Given the description of an element on the screen output the (x, y) to click on. 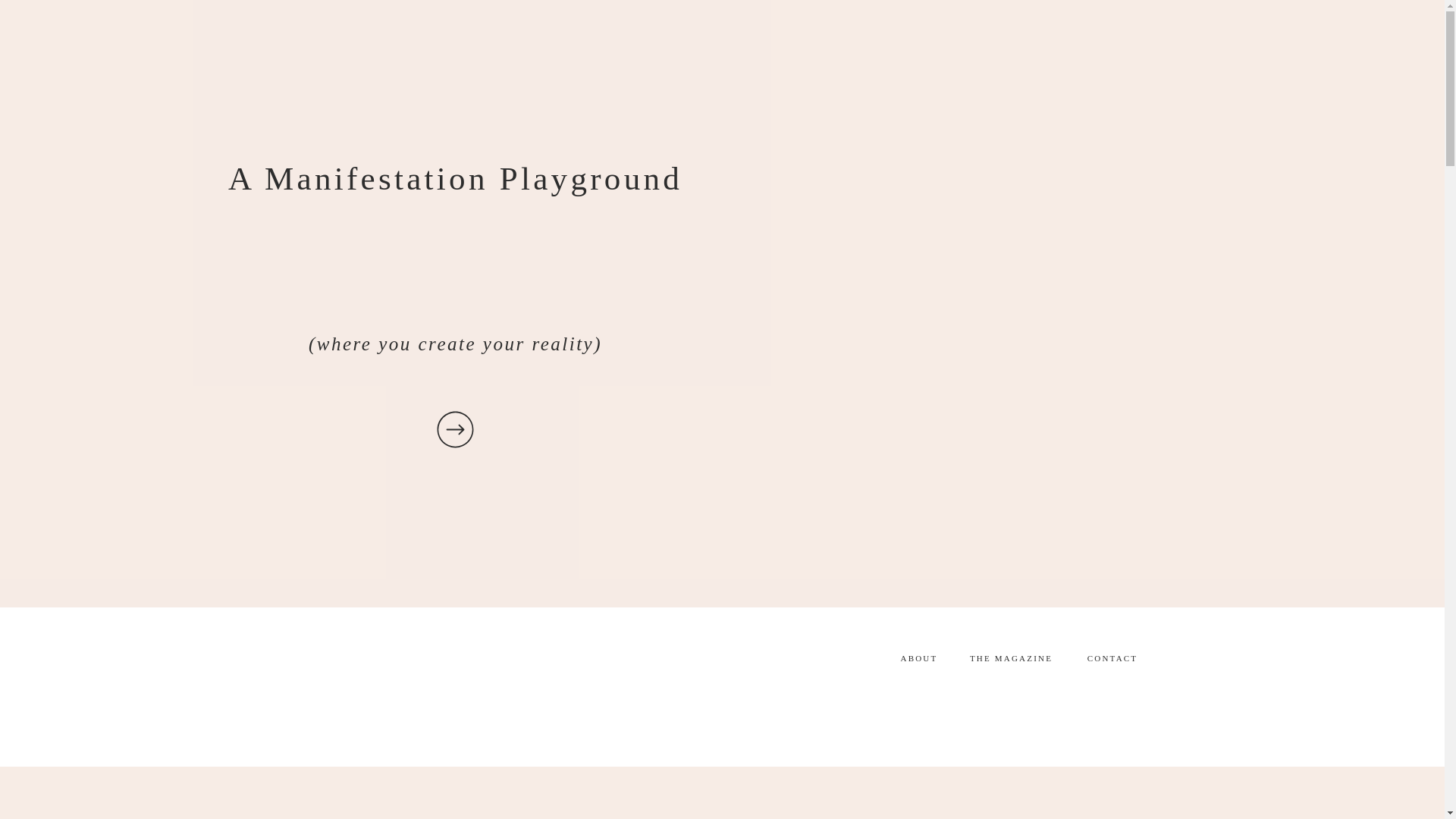
ABOUT (918, 660)
THE MAGAZINE (1011, 660)
CONTACT (1113, 660)
